Given the description of an element on the screen output the (x, y) to click on. 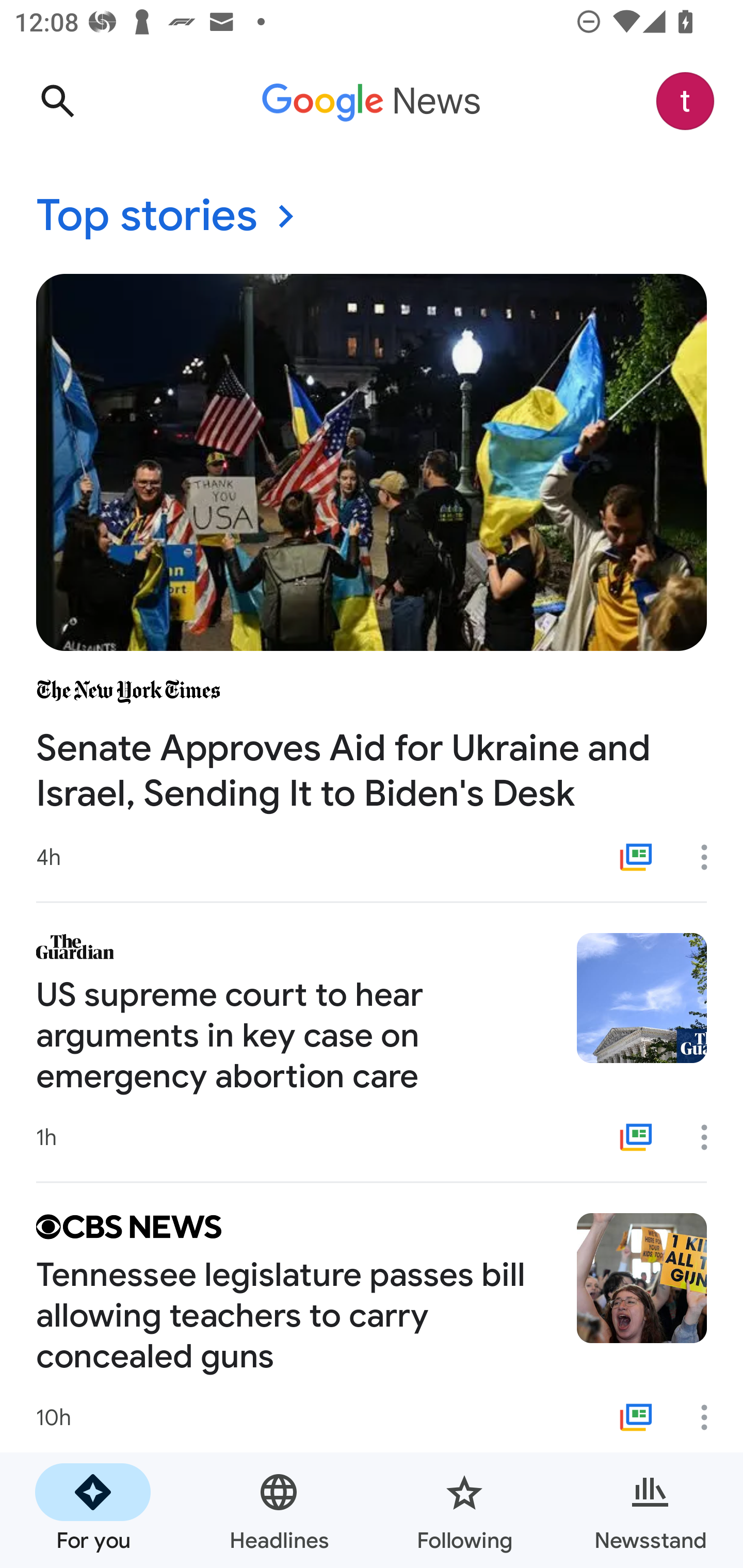
Search (57, 100)
Top stories (371, 216)
More options (711, 856)
More options (711, 1137)
More options (711, 1417)
For you (92, 1509)
Headlines (278, 1509)
Following (464, 1509)
Newsstand (650, 1509)
